Given the description of an element on the screen output the (x, y) to click on. 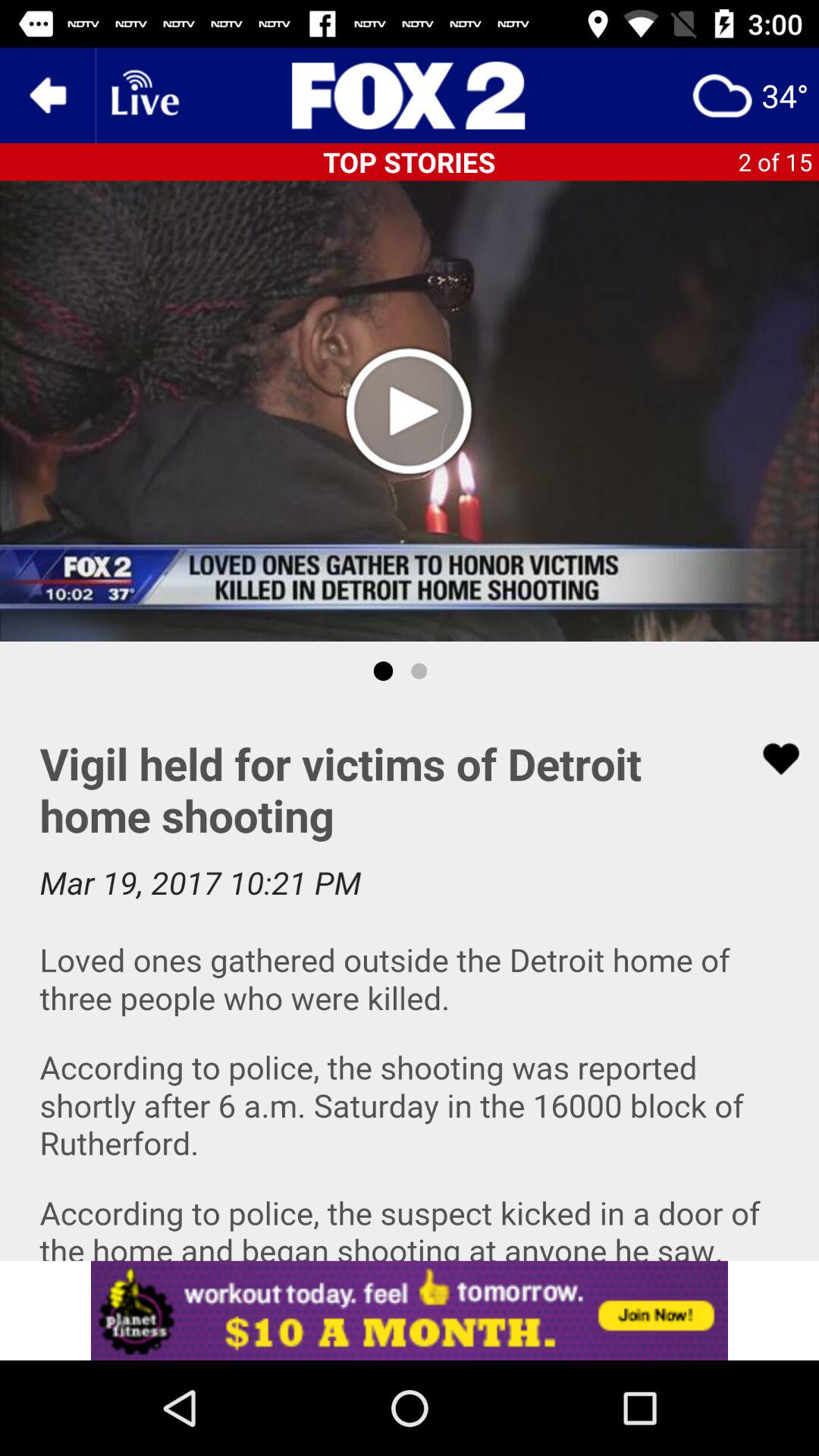
go to the main page (409, 95)
